Given the description of an element on the screen output the (x, y) to click on. 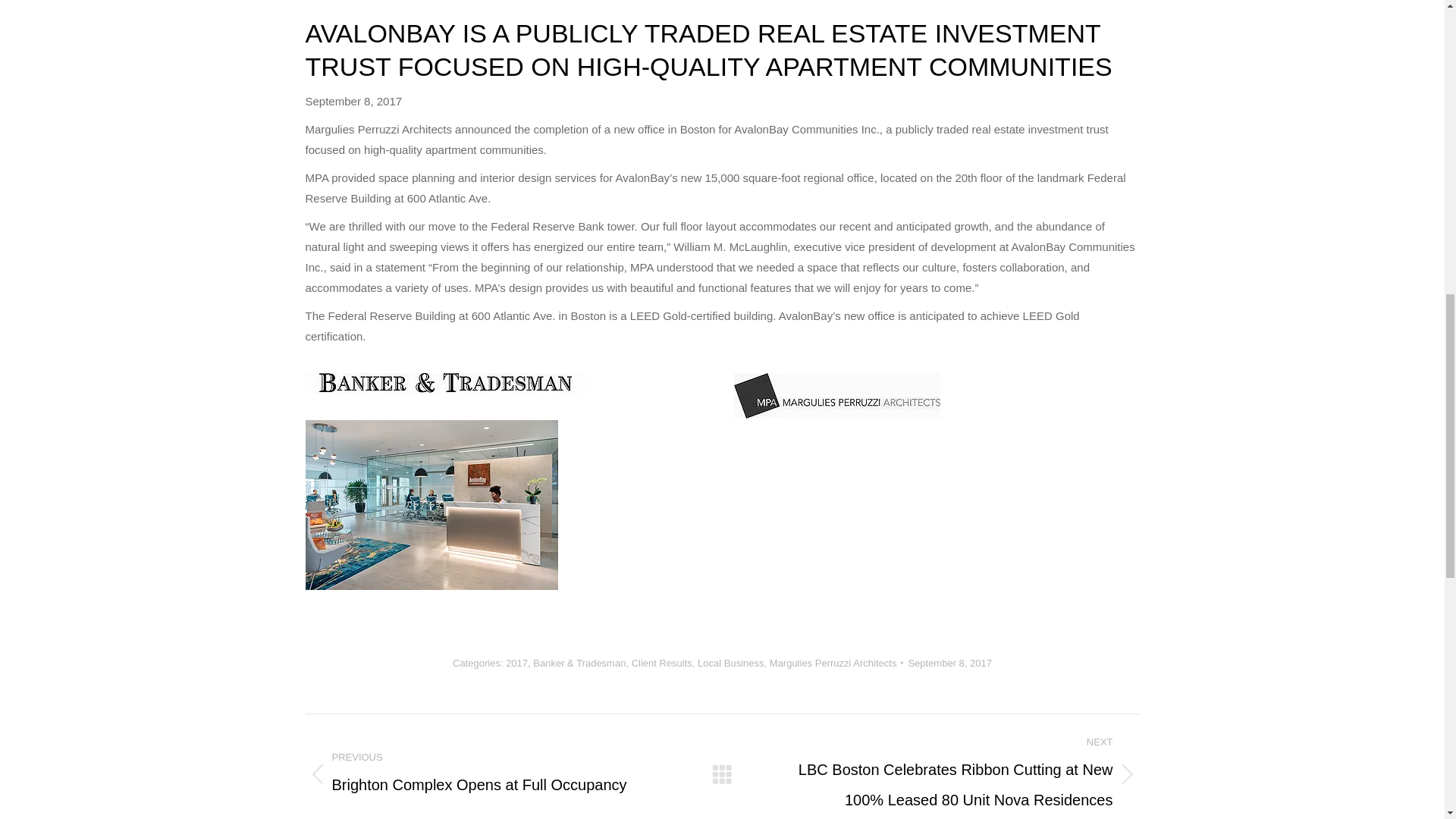
Structures 07-10-06 p10-top.qxp (444, 383)
